Given the description of an element on the screen output the (x, y) to click on. 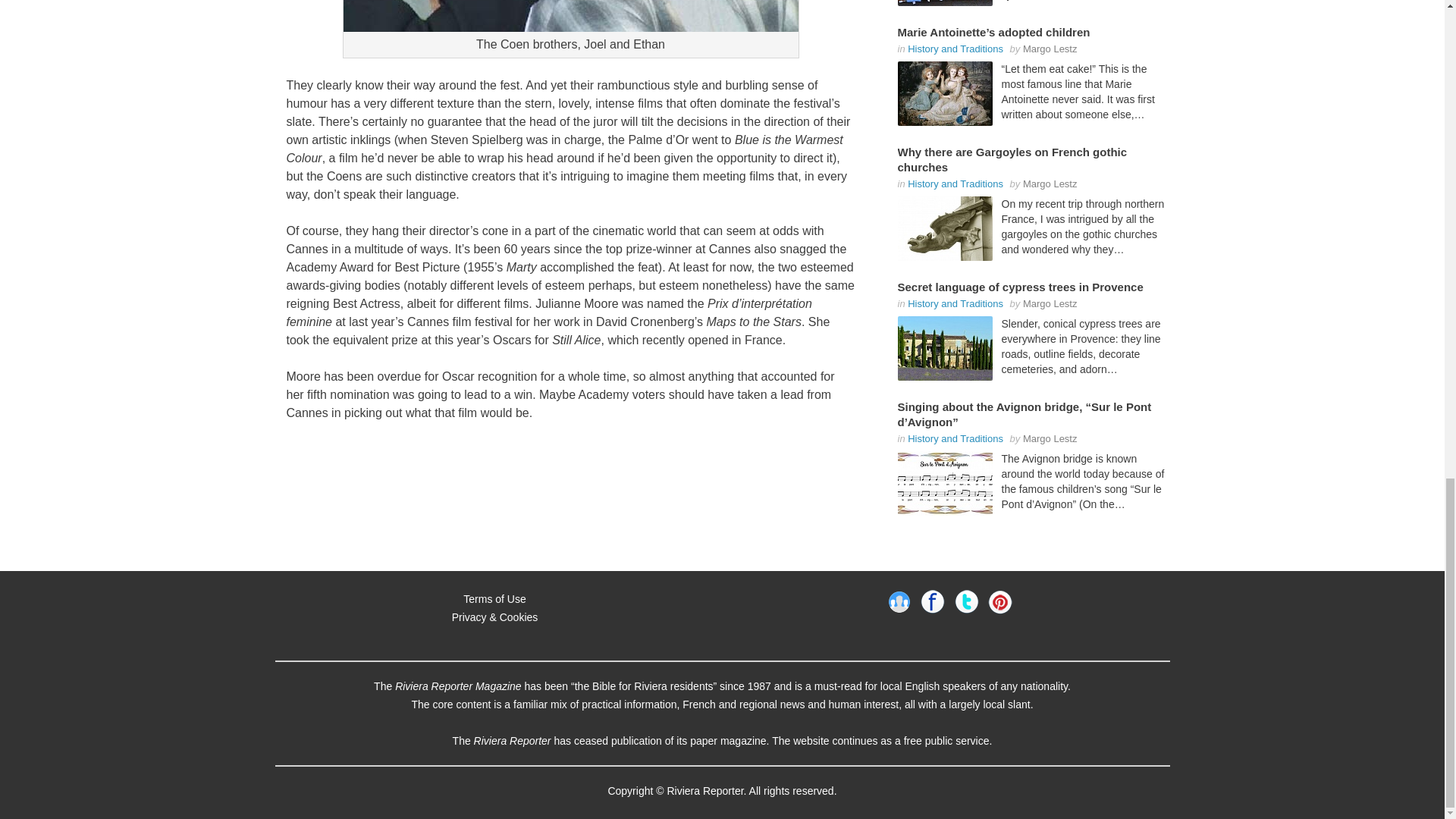
Privacy Policy (494, 616)
Why there are Gargoyles on French gothic churches (945, 228)
Secret language of cypress trees in Provence (945, 348)
Terms of Use (494, 598)
